Given the description of an element on the screen output the (x, y) to click on. 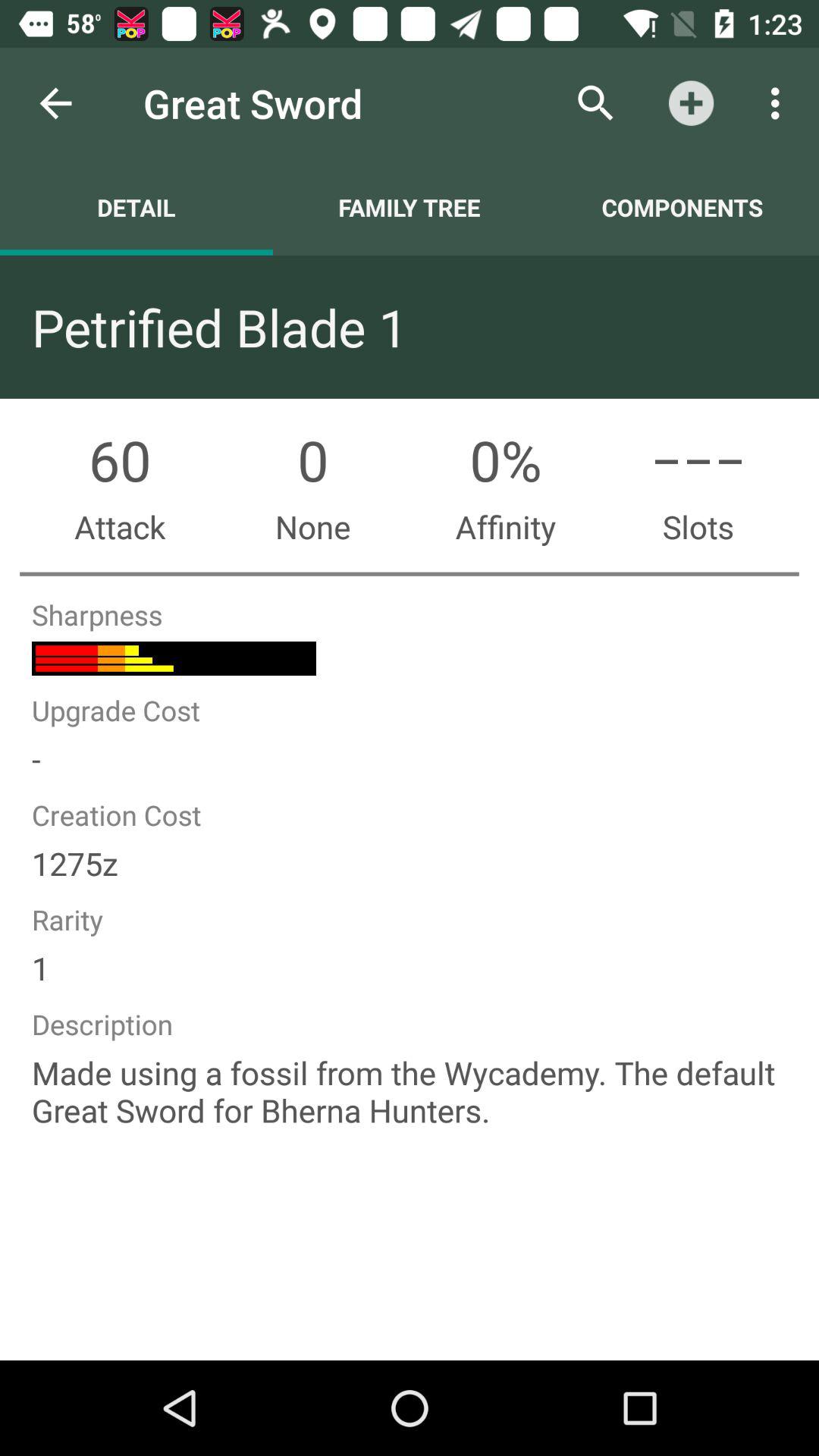
turn off the icon above petrified blade 1 icon (409, 207)
